Given the description of an element on the screen output the (x, y) to click on. 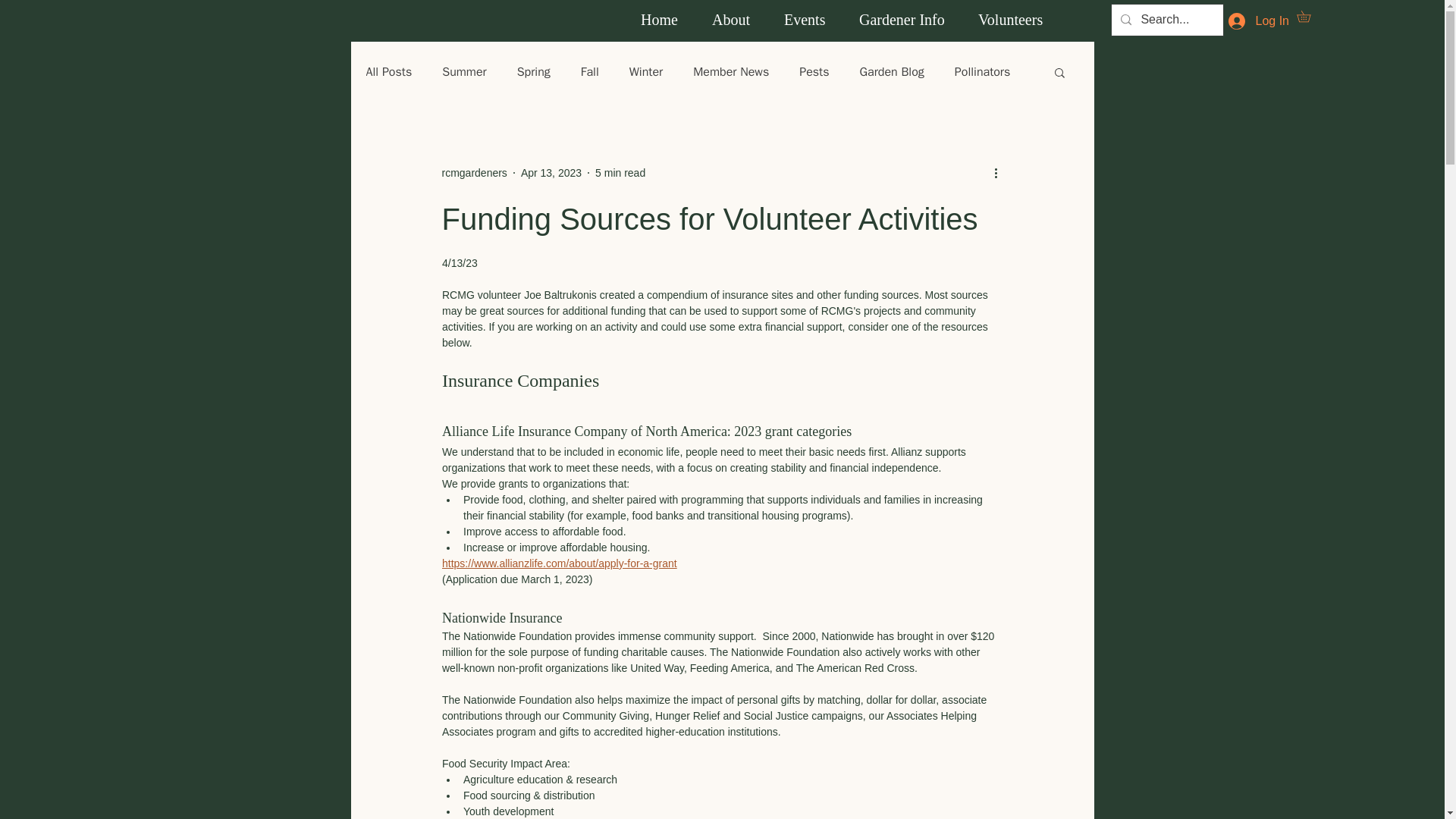
5 min read (620, 173)
Pests (813, 72)
Garden Blog (892, 72)
Home (664, 20)
rcmgardeners (473, 172)
All Posts (388, 72)
Member News (730, 72)
Fall (589, 72)
Spring (533, 72)
Log In (1258, 21)
